Given the description of an element on the screen output the (x, y) to click on. 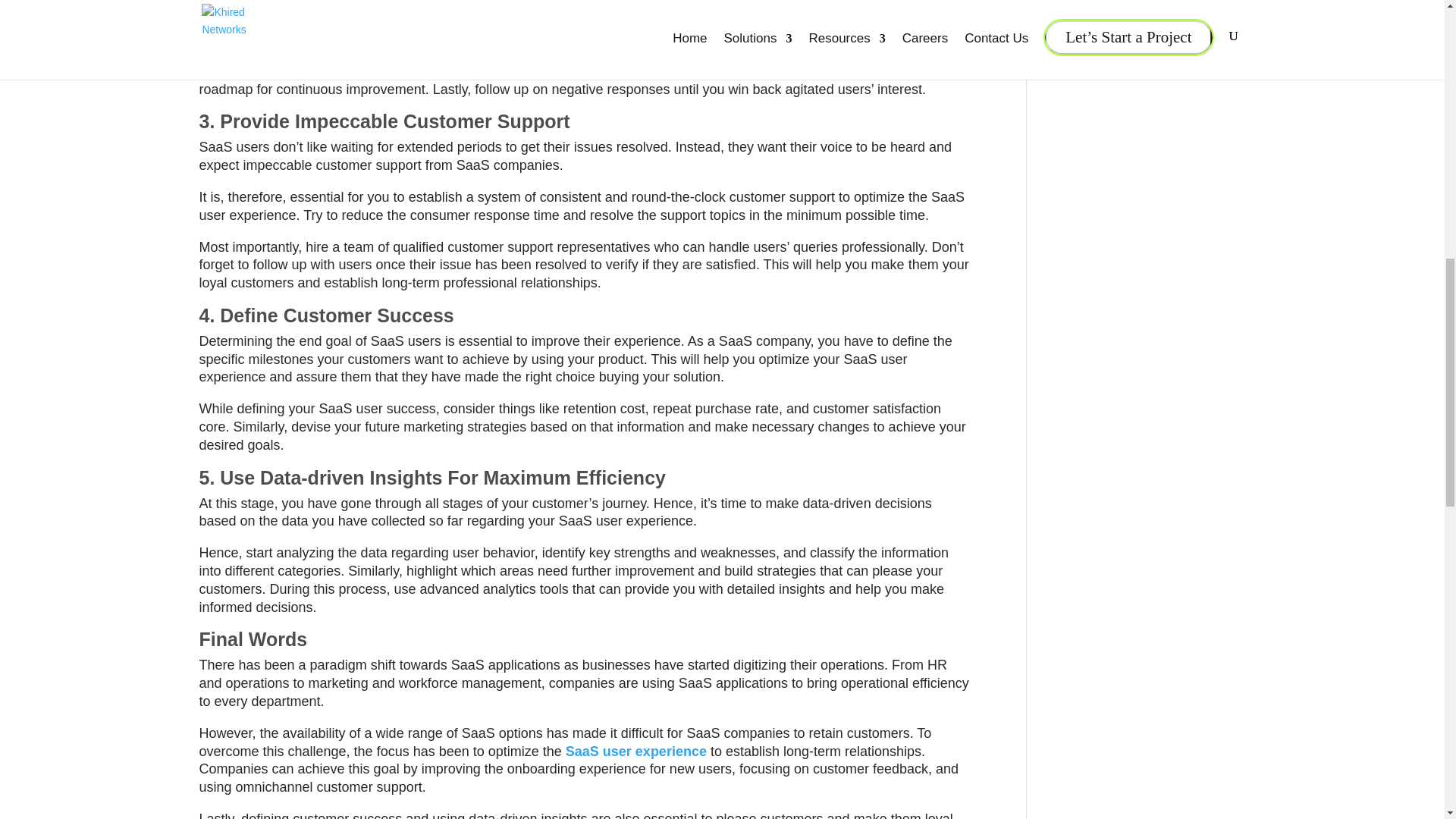
SaaS user experience (636, 751)
